Given the description of an element on the screen output the (x, y) to click on. 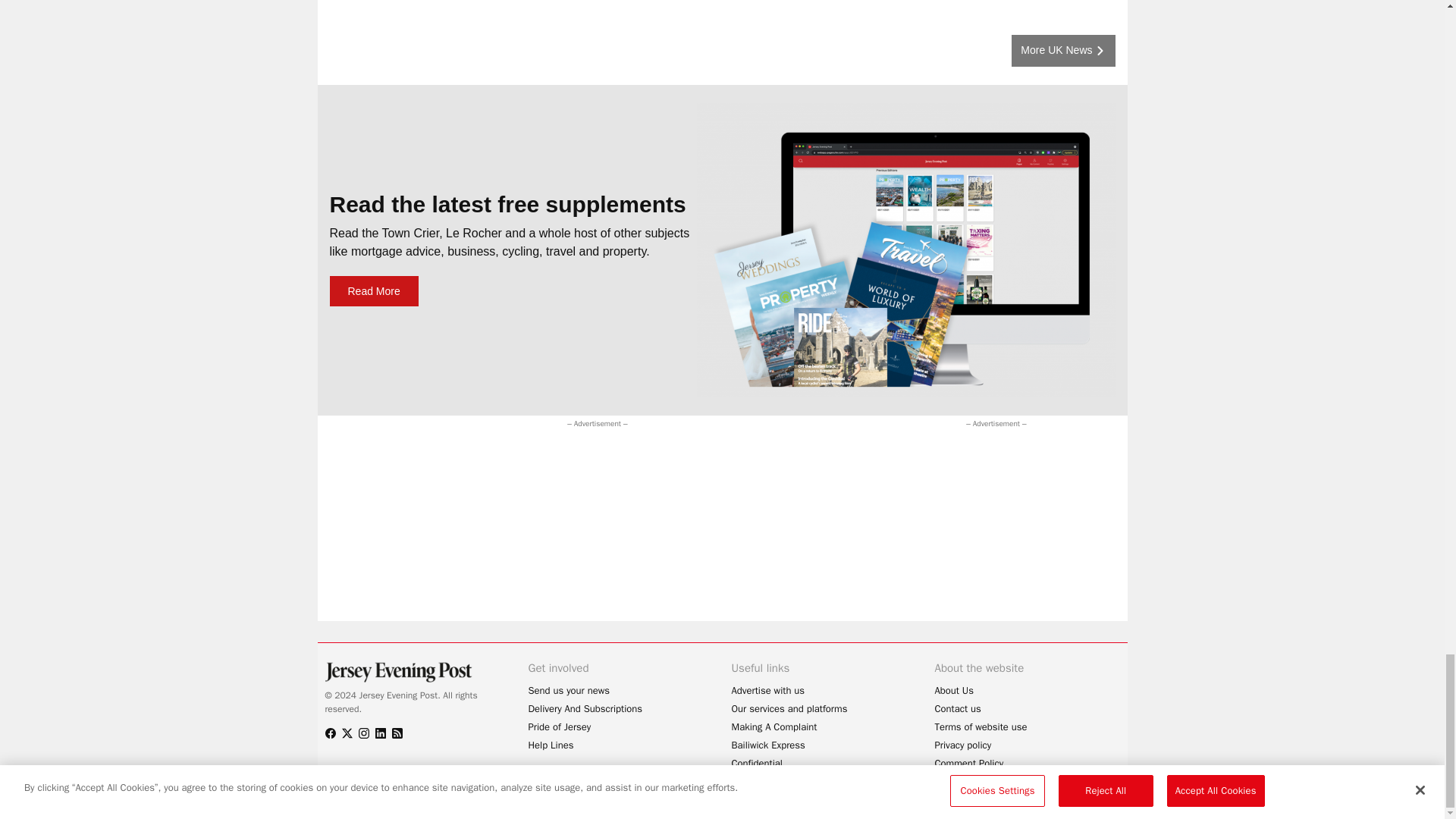
3rd party ad content (978, 525)
3rd party ad content (610, 465)
